Given the description of an element on the screen output the (x, y) to click on. 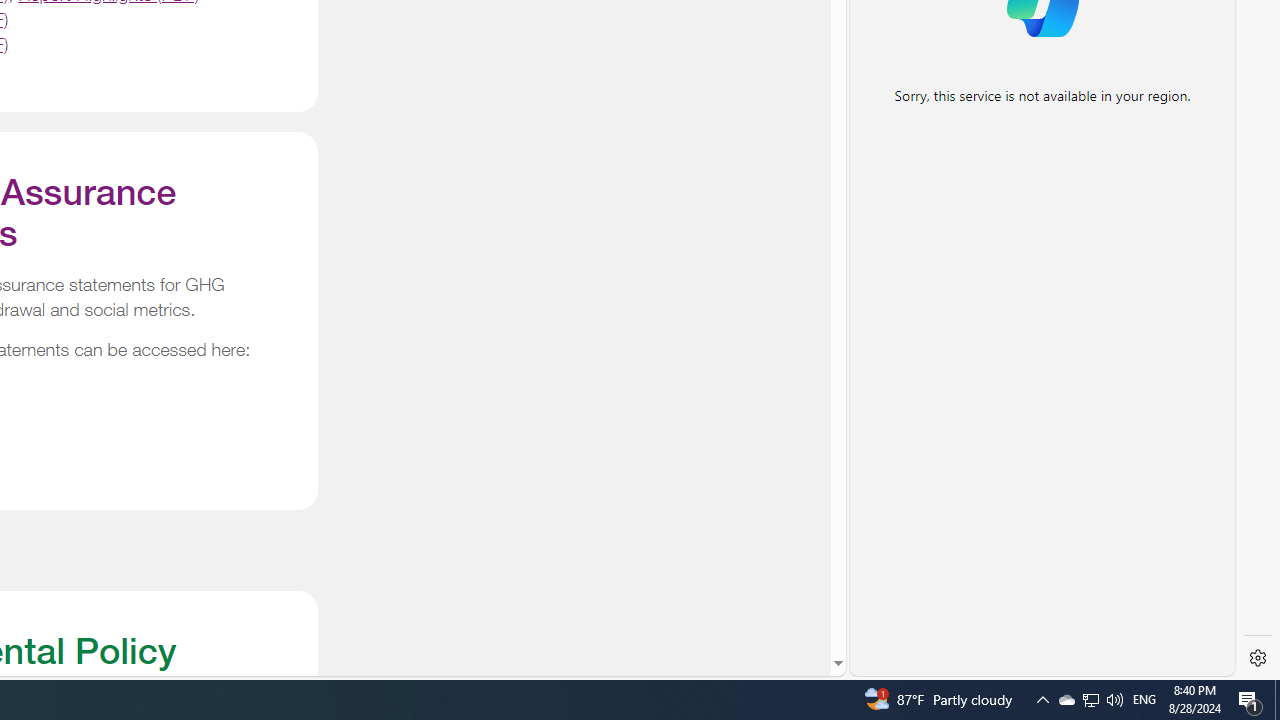
Settings (1258, 658)
